Given the description of an element on the screen output the (x, y) to click on. 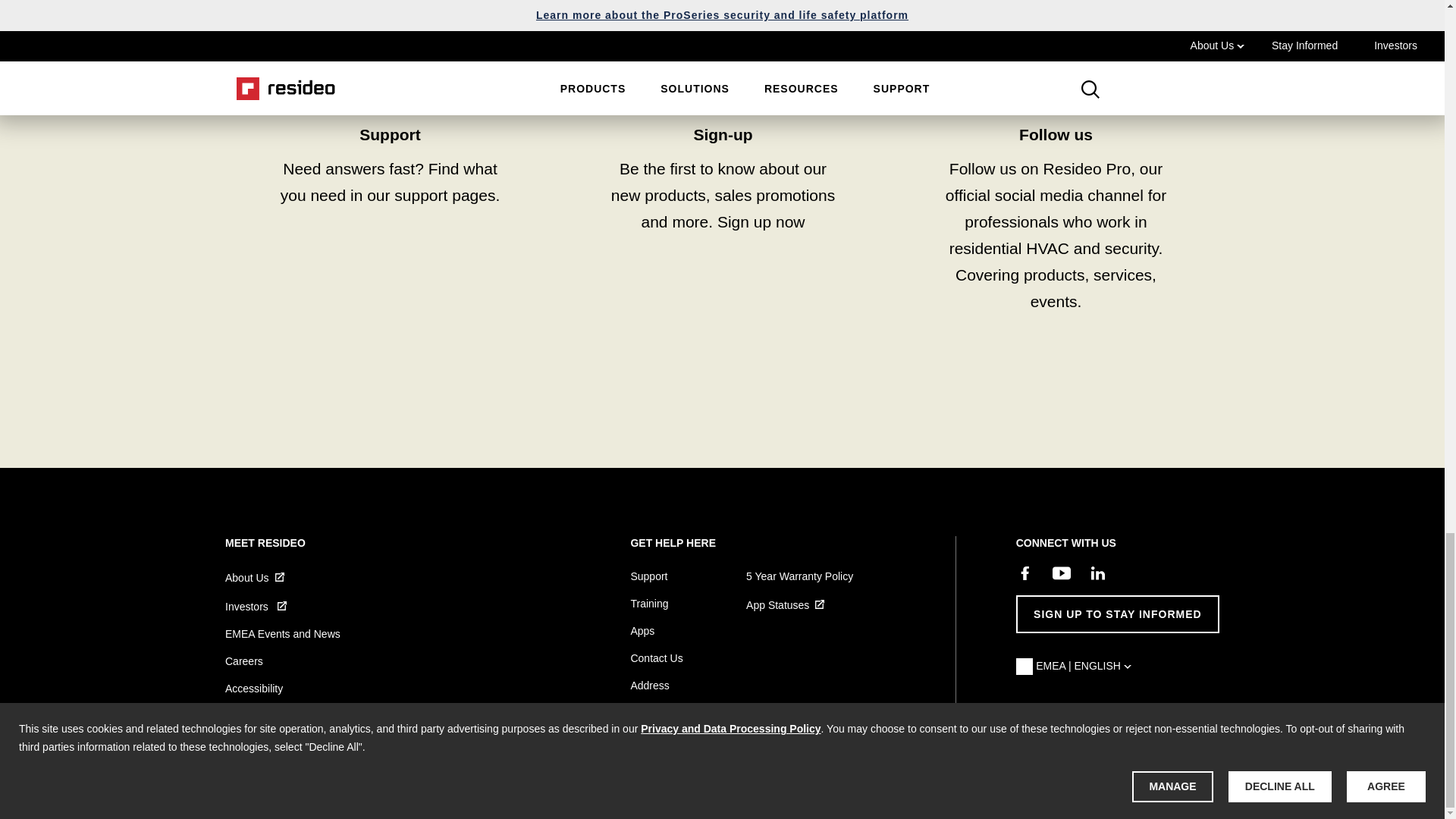
Investor site for information (261, 606)
Online courses and webinars for product training (390, 171)
Facebook group page (1056, 171)
Information about Resideo (261, 577)
Sign up for for email updates (722, 171)
